Given the description of an element on the screen output the (x, y) to click on. 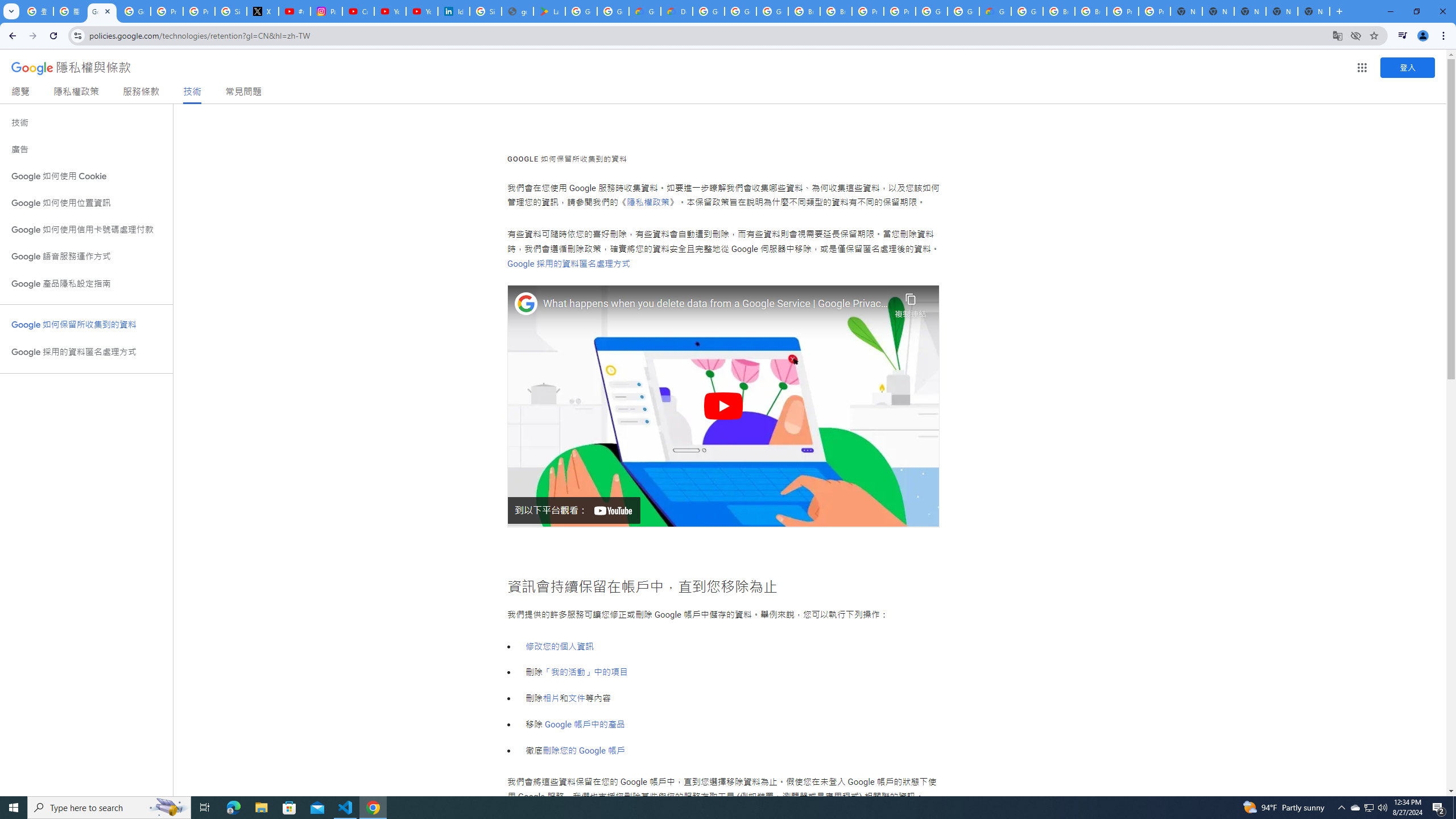
Sign in - Google Accounts (485, 11)
Google Cloud Platform (708, 11)
Privacy Help Center - Policies Help (198, 11)
Sign in - Google Accounts (230, 11)
